Given the description of an element on the screen output the (x, y) to click on. 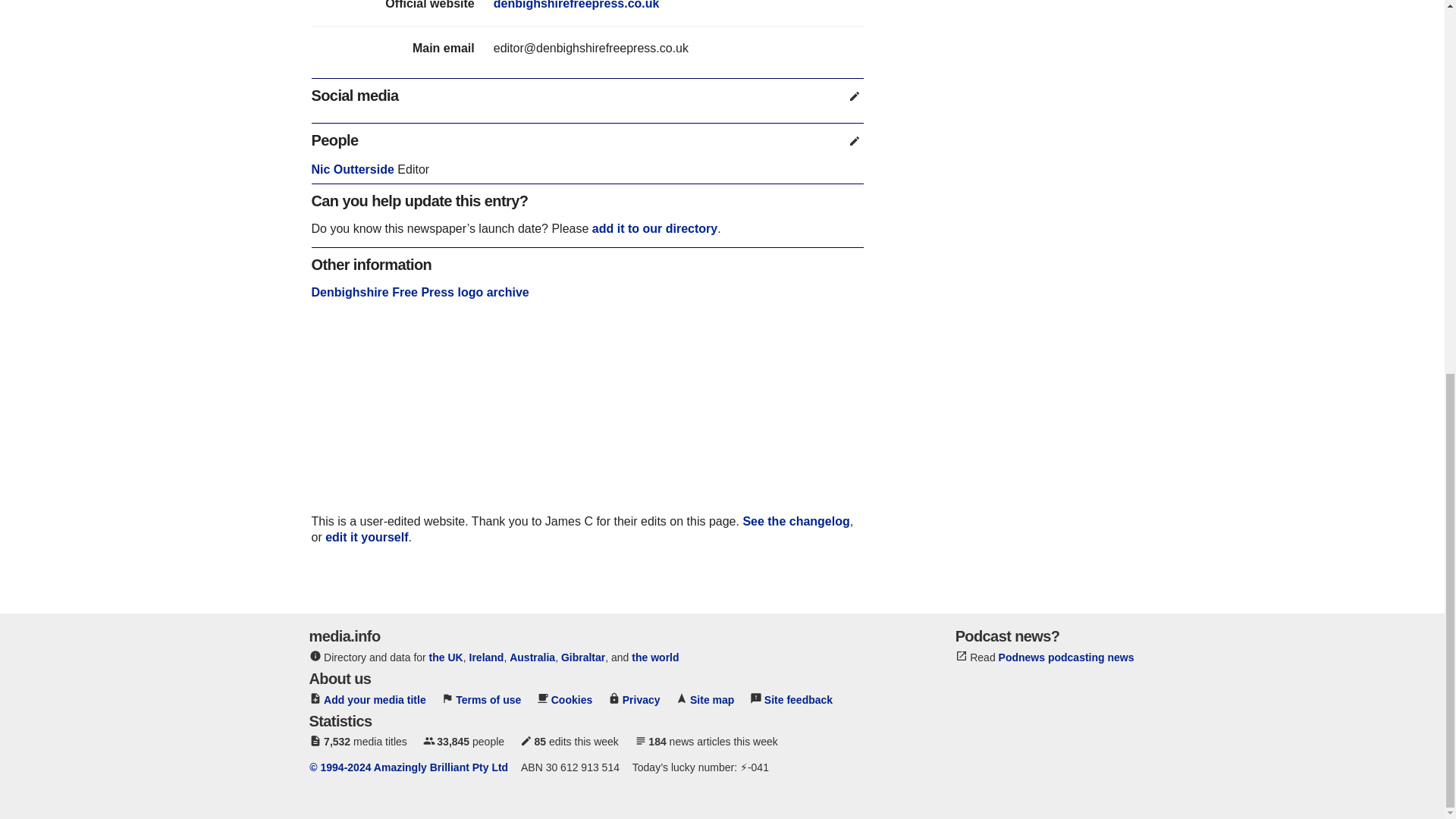
edit it yourself (365, 536)
See the changelog (795, 521)
3rd party ad content (587, 418)
add it to our directory (654, 228)
Podnews podcasting news (1066, 657)
Ireland (485, 657)
Nic Outterside (352, 169)
denbighshirefreepress.co.uk (576, 4)
the UK (446, 657)
Australia (531, 657)
3rd party ad content (587, 575)
Denbighshire Free Press logo archive (419, 291)
